Given the description of an element on the screen output the (x, y) to click on. 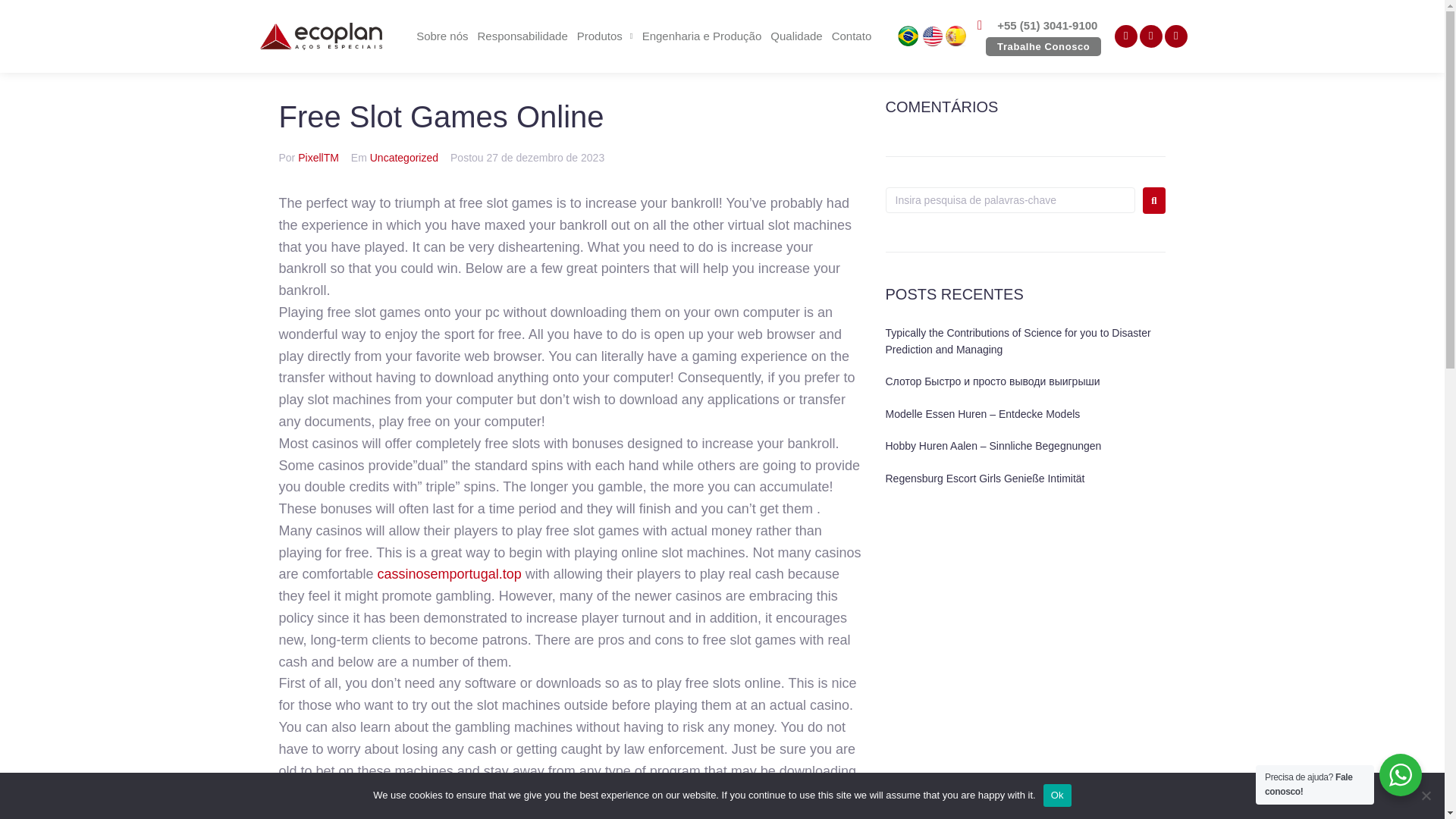
Responsabilidade (522, 36)
Qualidade (796, 36)
Produtos (604, 36)
Contato (851, 36)
Trabalhe Conosco (1042, 46)
No (1425, 795)
